Given the description of an element on the screen output the (x, y) to click on. 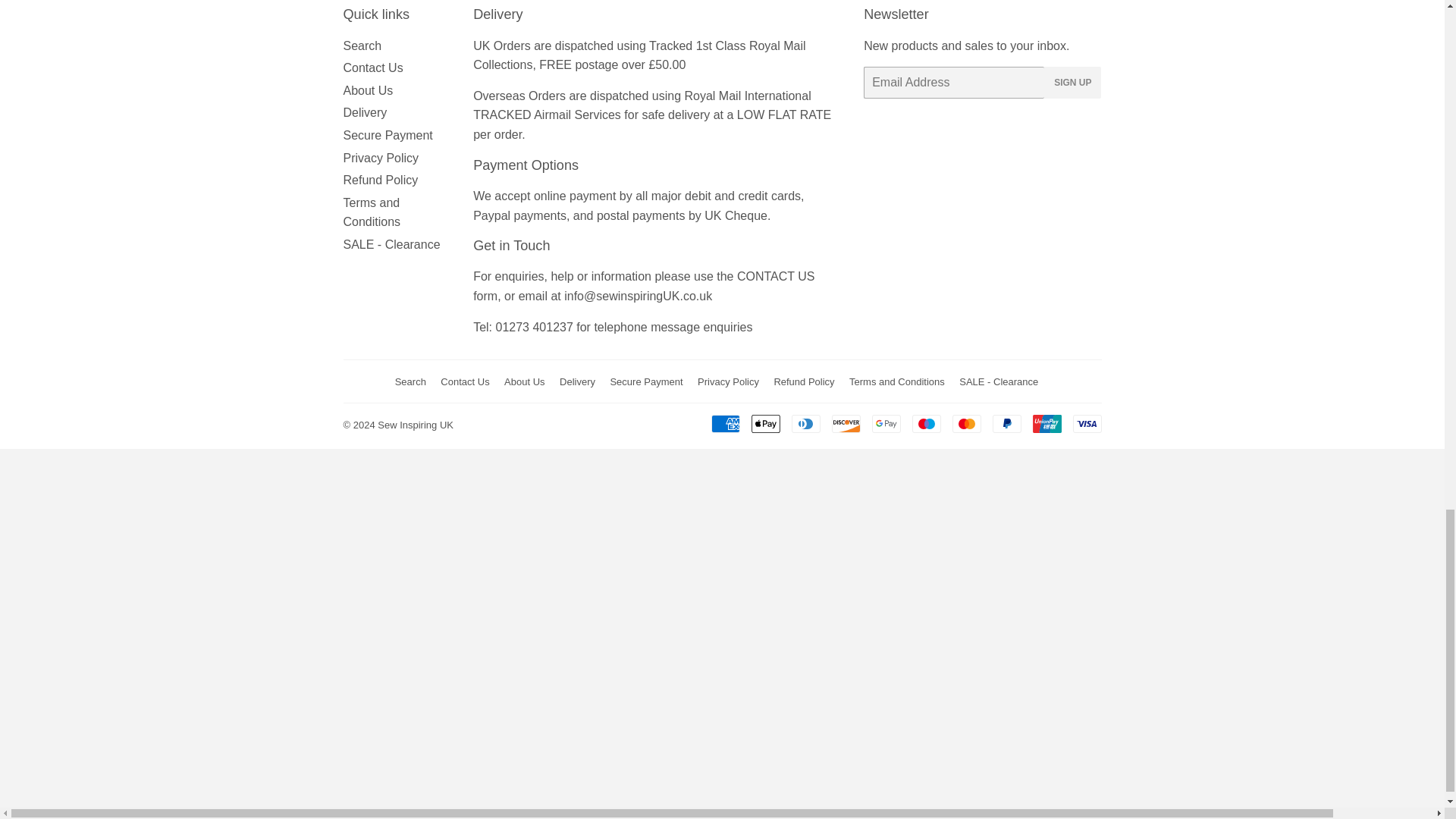
Diners Club (806, 423)
Apple Pay (764, 423)
Mastercard (966, 423)
Discover (845, 423)
American Express (725, 423)
Google Pay (886, 423)
Maestro (925, 423)
Visa (1085, 423)
PayPal (1005, 423)
Union Pay (1046, 423)
